Given the description of an element on the screen output the (x, y) to click on. 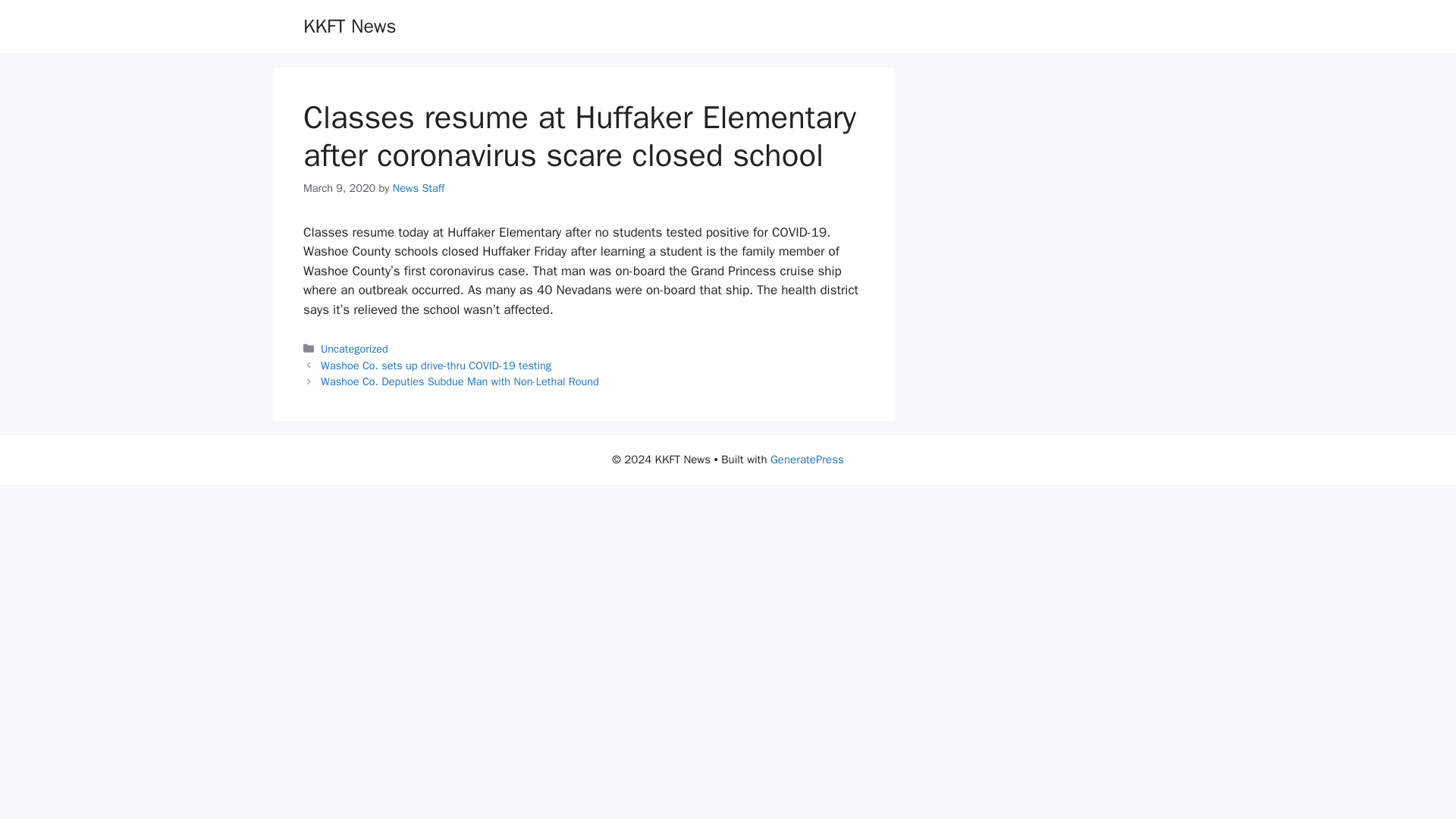
Washoe Co. sets up drive-thru COVID-19 testing (435, 365)
Uncategorized (354, 348)
View all posts by News Staff (419, 187)
KKFT News (349, 25)
Washoe Co. Deputies Subdue Man with Non-Lethal Round (459, 381)
GeneratePress (807, 459)
News Staff (419, 187)
